Given the description of an element on the screen output the (x, y) to click on. 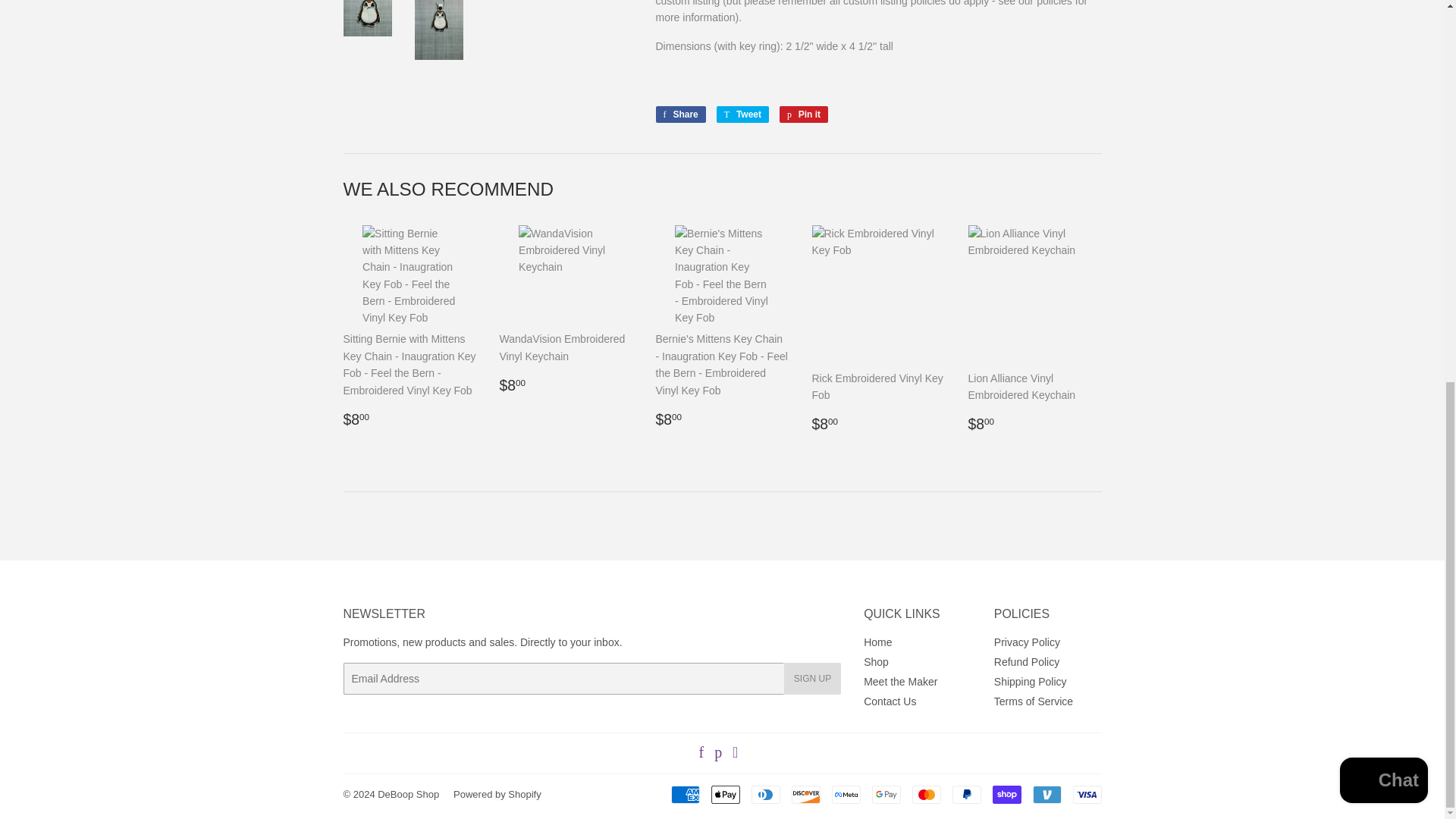
Diners Club (764, 794)
Visa (679, 114)
Contact Us (1085, 794)
Venmo (742, 114)
Discover (889, 701)
PayPal (1046, 794)
Meet the Maker (806, 794)
Home (966, 794)
